Given the description of an element on the screen output the (x, y) to click on. 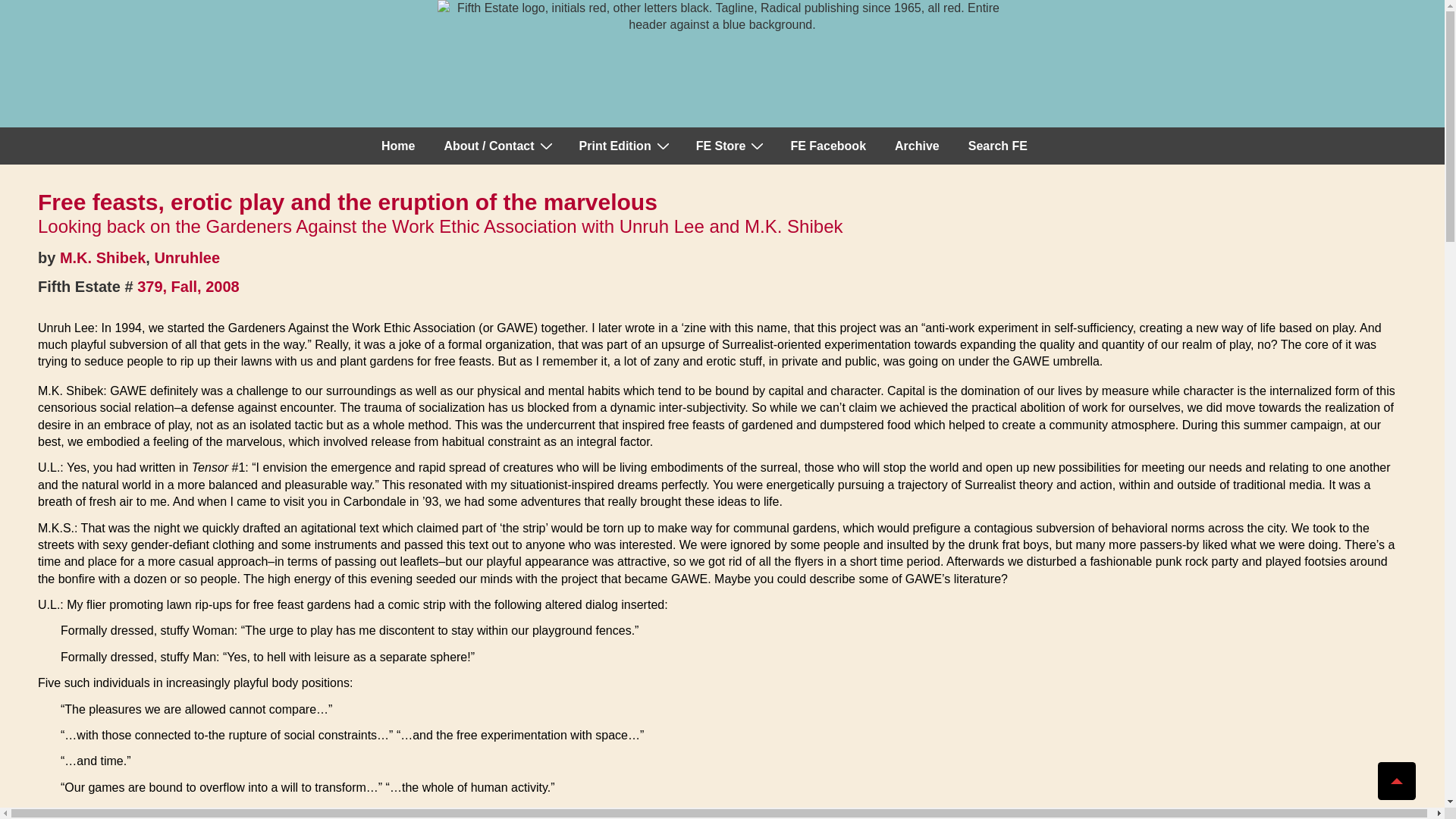
FE Facebook (827, 145)
Print Edition (623, 145)
Unruhlee (186, 257)
Top (1396, 781)
Scroll to Top (1396, 781)
Archive (916, 145)
Home (398, 145)
Recordings (729, 145)
Search FE (998, 145)
379, Fall, 2008 (188, 286)
M.K. Shibek (102, 257)
FE Store (729, 145)
